Given the description of an element on the screen output the (x, y) to click on. 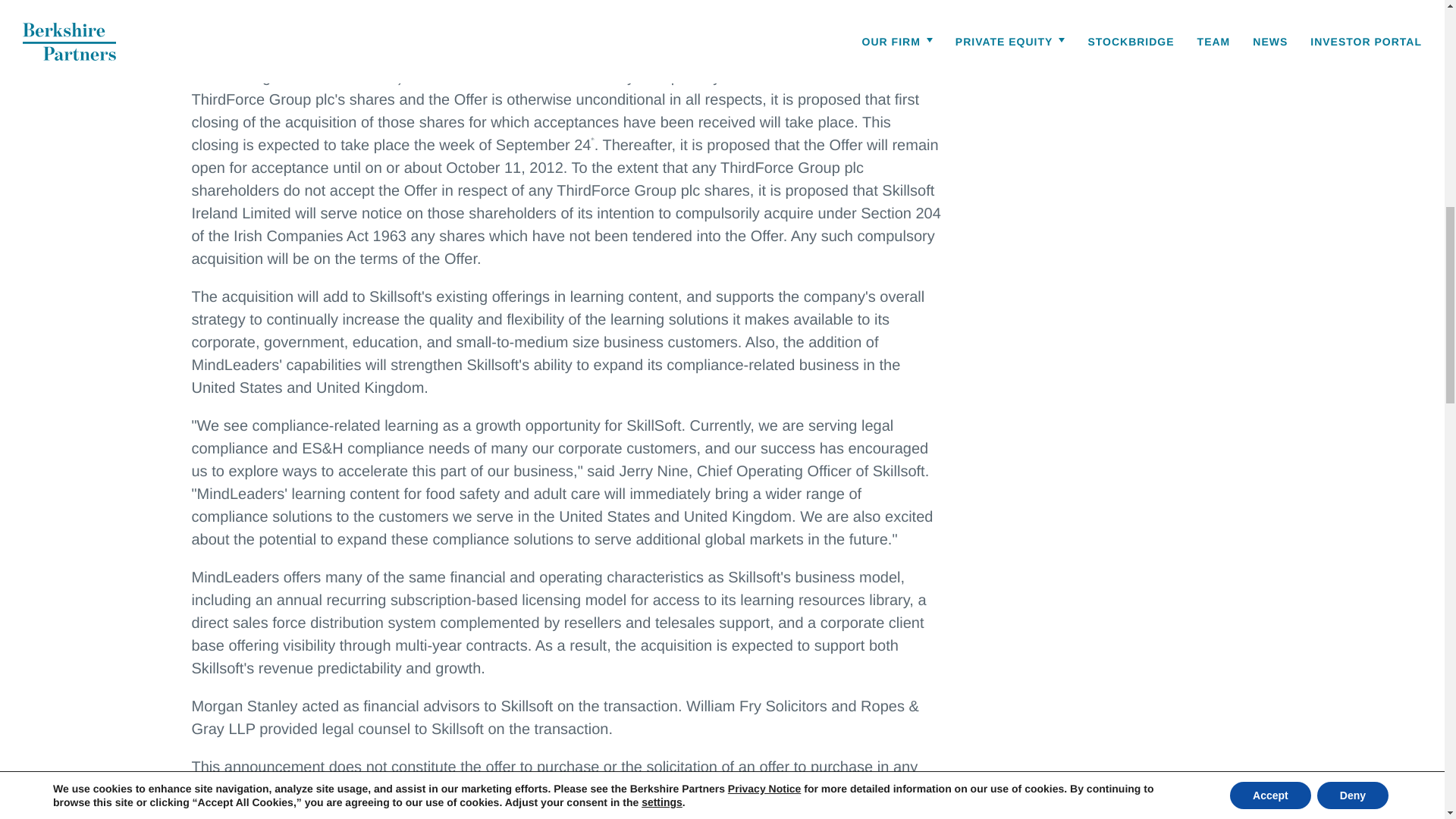
VIEW DETAILS (1024, 56)
